Given the description of an element on the screen output the (x, y) to click on. 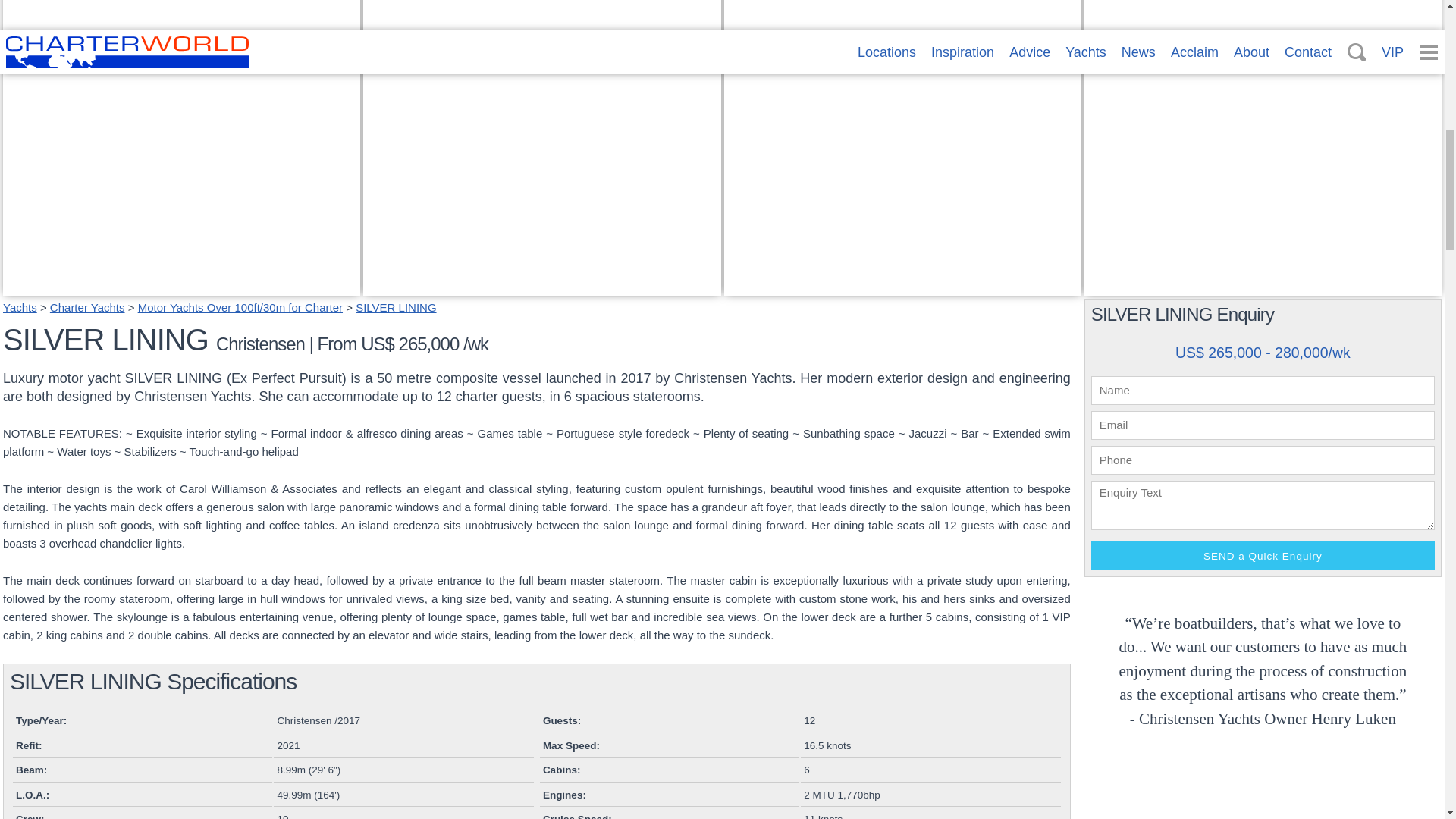
Directory (541, 286)
Charter Yachts (87, 307)
SEND a Quick Enquiry (180, 286)
The 10 largest luxury yachts attending ... (1262, 555)
SEND a Quick Enquiry (901, 286)
Directory (1262, 555)
Running Shot (394, 282)
Running Shot (1262, 792)
The 10 largest luxury yachts attending ... (180, 286)
Yachts (844, 268)
SILVER LINING (19, 307)
SILVER FOX (395, 307)
SILVER FOX (1262, 286)
Running Shot (1128, 268)
